Given the description of an element on the screen output the (x, y) to click on. 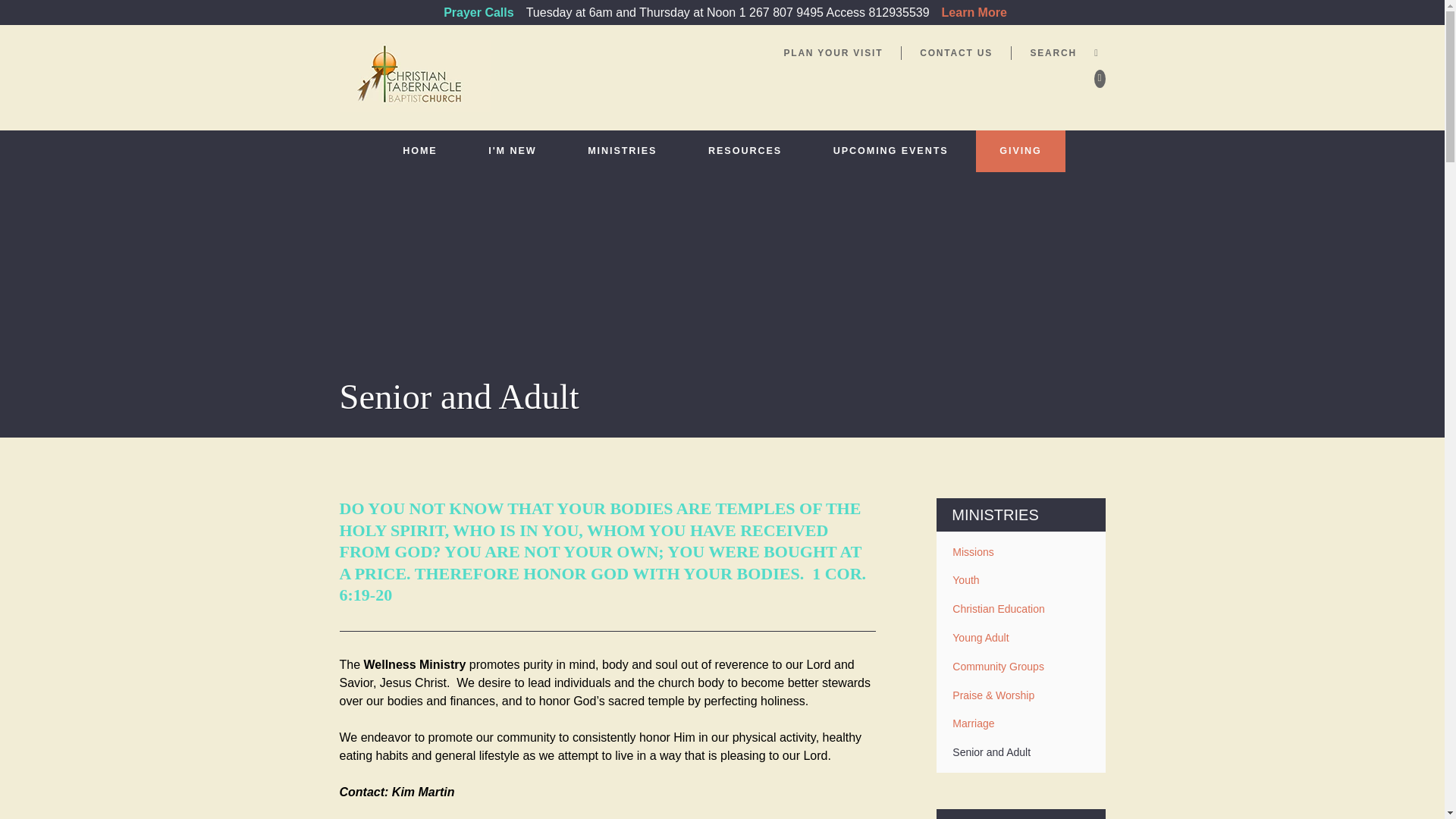
CONTACT US (956, 52)
Contact Us (956, 52)
Plan Your Visit (832, 52)
Learn More (974, 11)
PLAN YOUR VISIT (832, 52)
I'M NEW (512, 150)
HOME (419, 150)
